Given the description of an element on the screen output the (x, y) to click on. 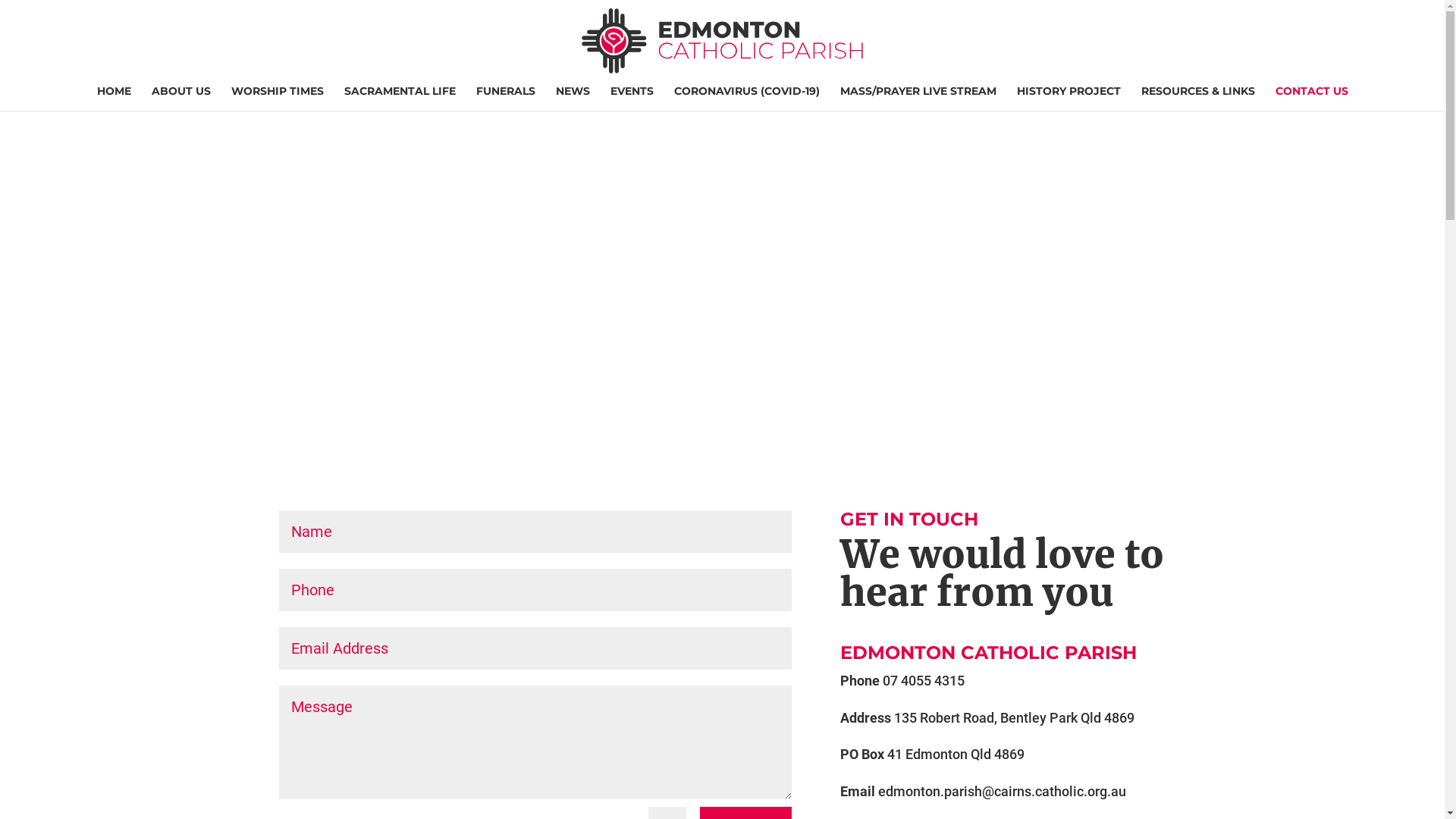
HISTORY PROJECT Element type: text (1068, 97)
FUNERALS Element type: text (505, 97)
NEWS Element type: text (572, 97)
WORSHIP TIMES Element type: text (276, 97)
HOME Element type: text (114, 97)
MASS/PRAYER LIVE STREAM Element type: text (918, 97)
ABOUT US Element type: text (180, 97)
RESOURCES & LINKS Element type: text (1197, 97)
CONTACT US Element type: text (1311, 97)
CORONAVIRUS (COVID-19) Element type: text (746, 97)
EVENTS Element type: text (630, 97)
SACRAMENTAL LIFE Element type: text (399, 97)
